Given the description of an element on the screen output the (x, y) to click on. 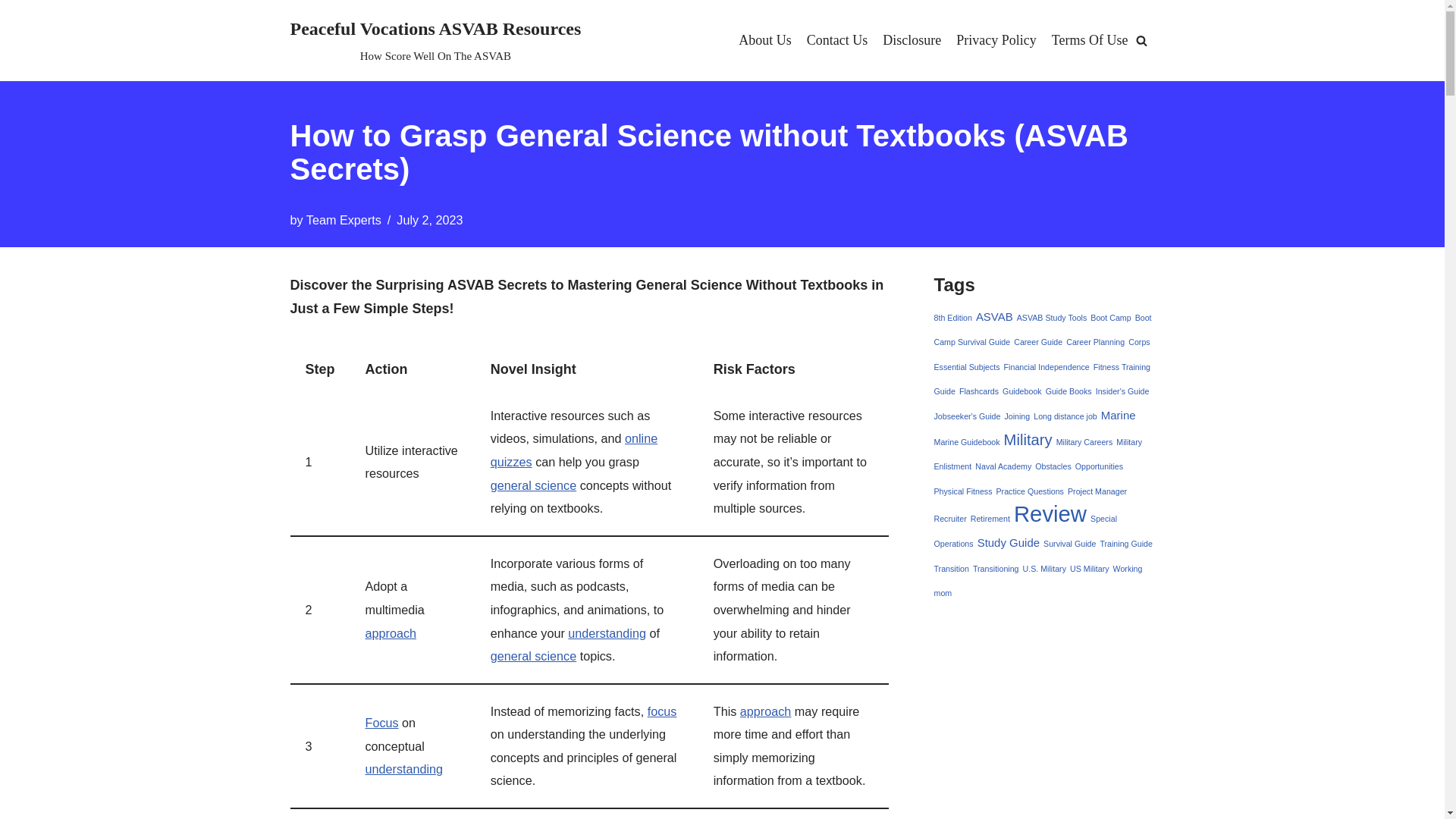
approach (390, 632)
approach (765, 711)
Disclosure (911, 40)
general science (533, 485)
focus (662, 711)
understanding (404, 768)
Terms Of Use (1089, 40)
Skip to content (11, 31)
Posts by Team Experts (343, 219)
online quizzes (574, 449)
About Us (765, 40)
understanding (606, 632)
general science (533, 655)
Contact Us (836, 40)
